Given the description of an element on the screen output the (x, y) to click on. 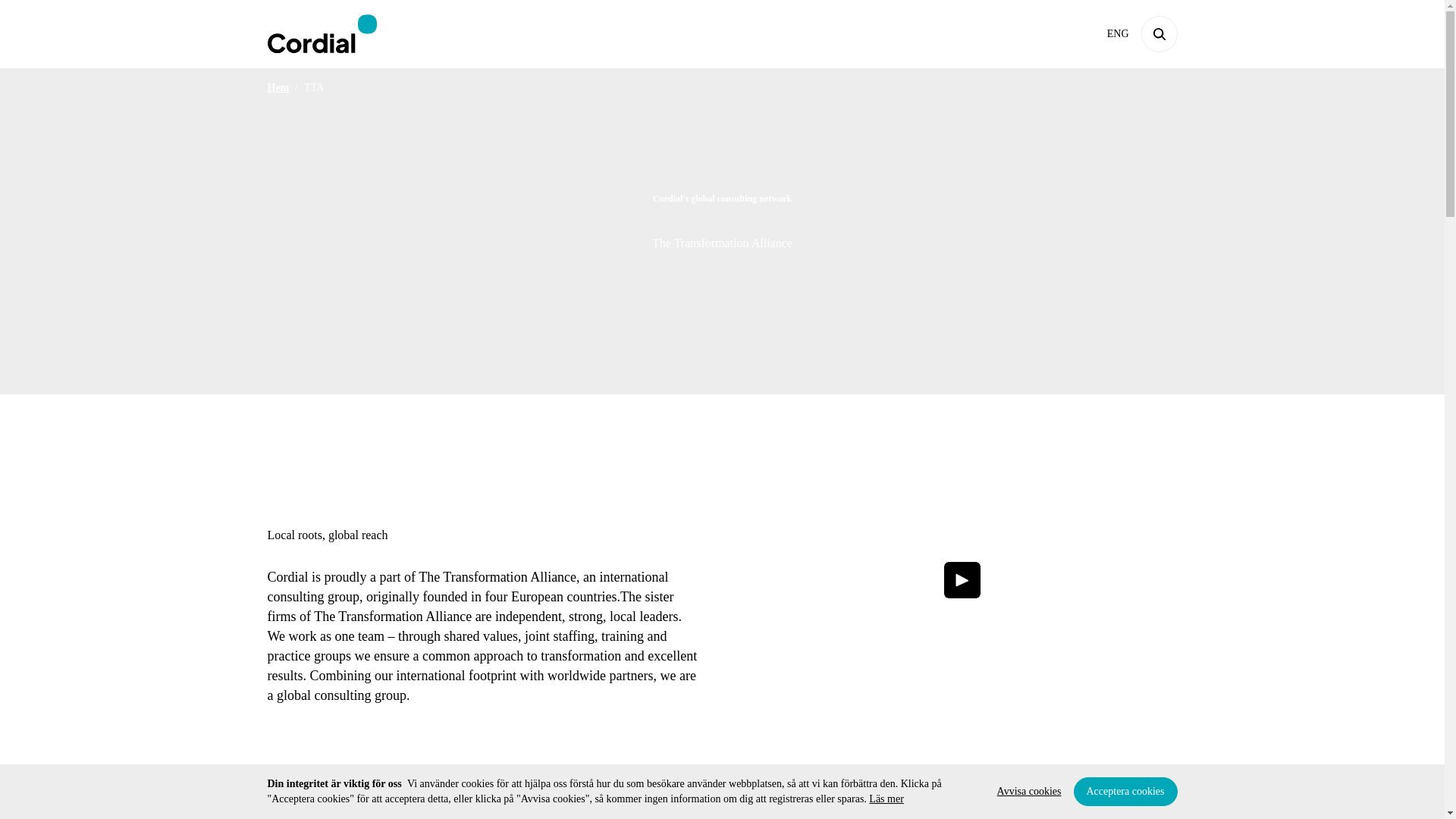
Acceptera cookies (1125, 791)
TTA (313, 87)
Avvisa cookies (1029, 791)
Hem (277, 87)
